Given the description of an element on the screen output the (x, y) to click on. 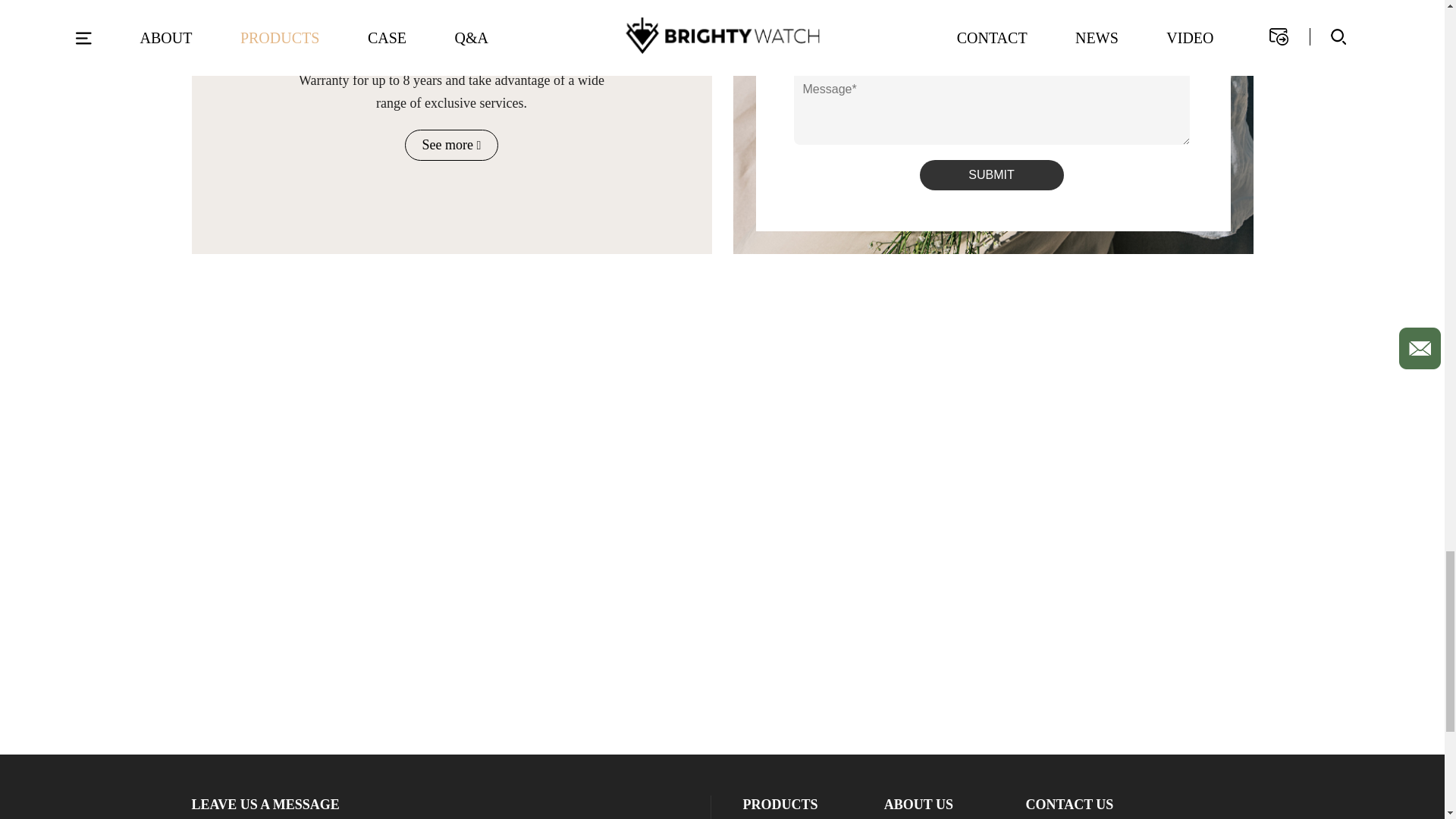
SUBMIT (990, 174)
